Given the description of an element on the screen output the (x, y) to click on. 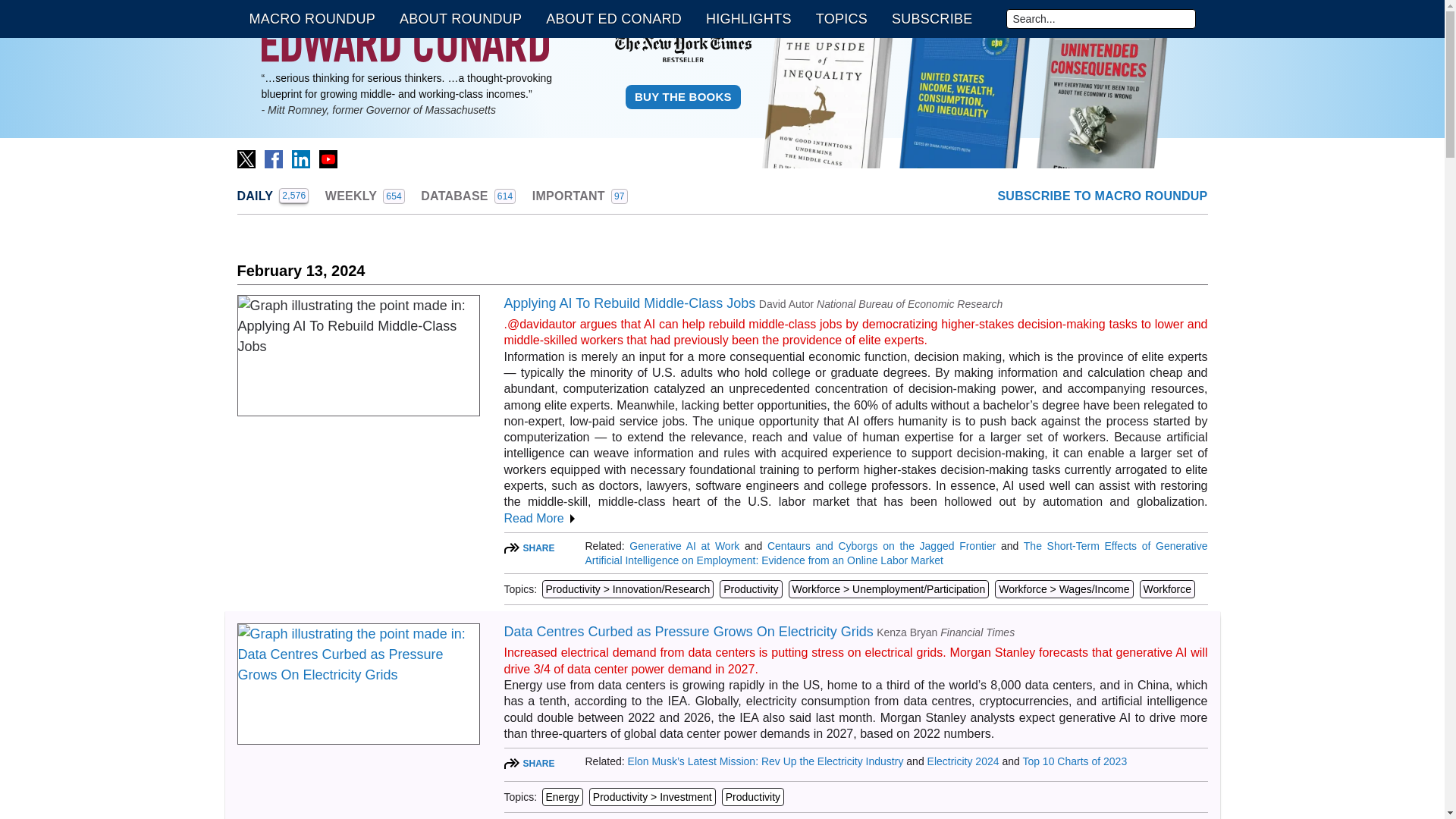
BUY THE BOOKS (683, 96)
facebook (467, 195)
Search (272, 158)
Edward Conard (460, 18)
Search for: (404, 43)
Applying AI To Rebuild Middle-Class Jobs (1100, 18)
HIGHLIGHTS (629, 303)
View articles from our Weekly edition. (748, 18)
SUBSCRIBE (364, 195)
SUBSCRIBE TO MACRO ROUNDUP (931, 18)
linkedin (1102, 196)
